Given the description of an element on the screen output the (x, y) to click on. 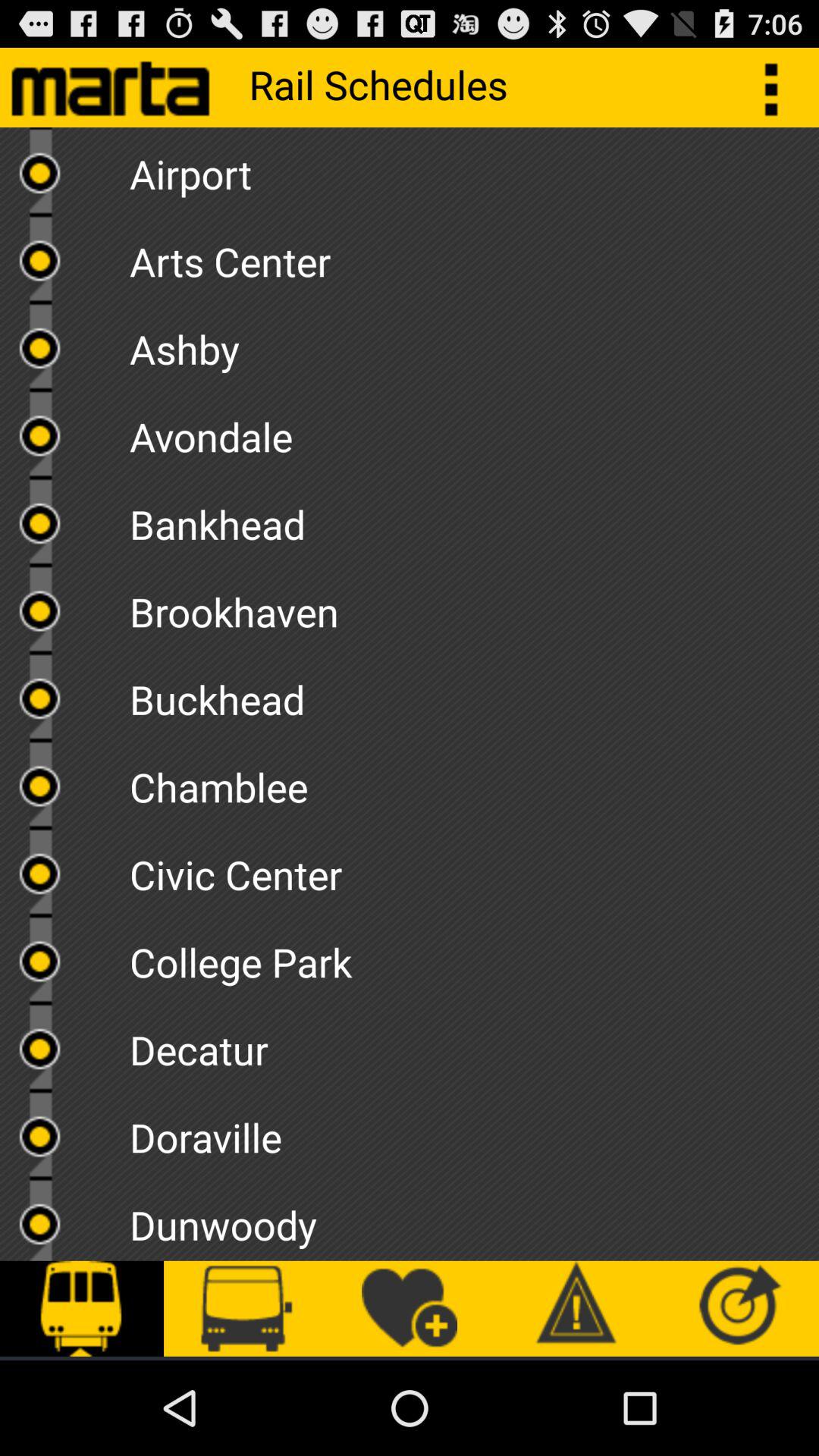
select item above the doraville item (474, 1044)
